Given the description of an element on the screen output the (x, y) to click on. 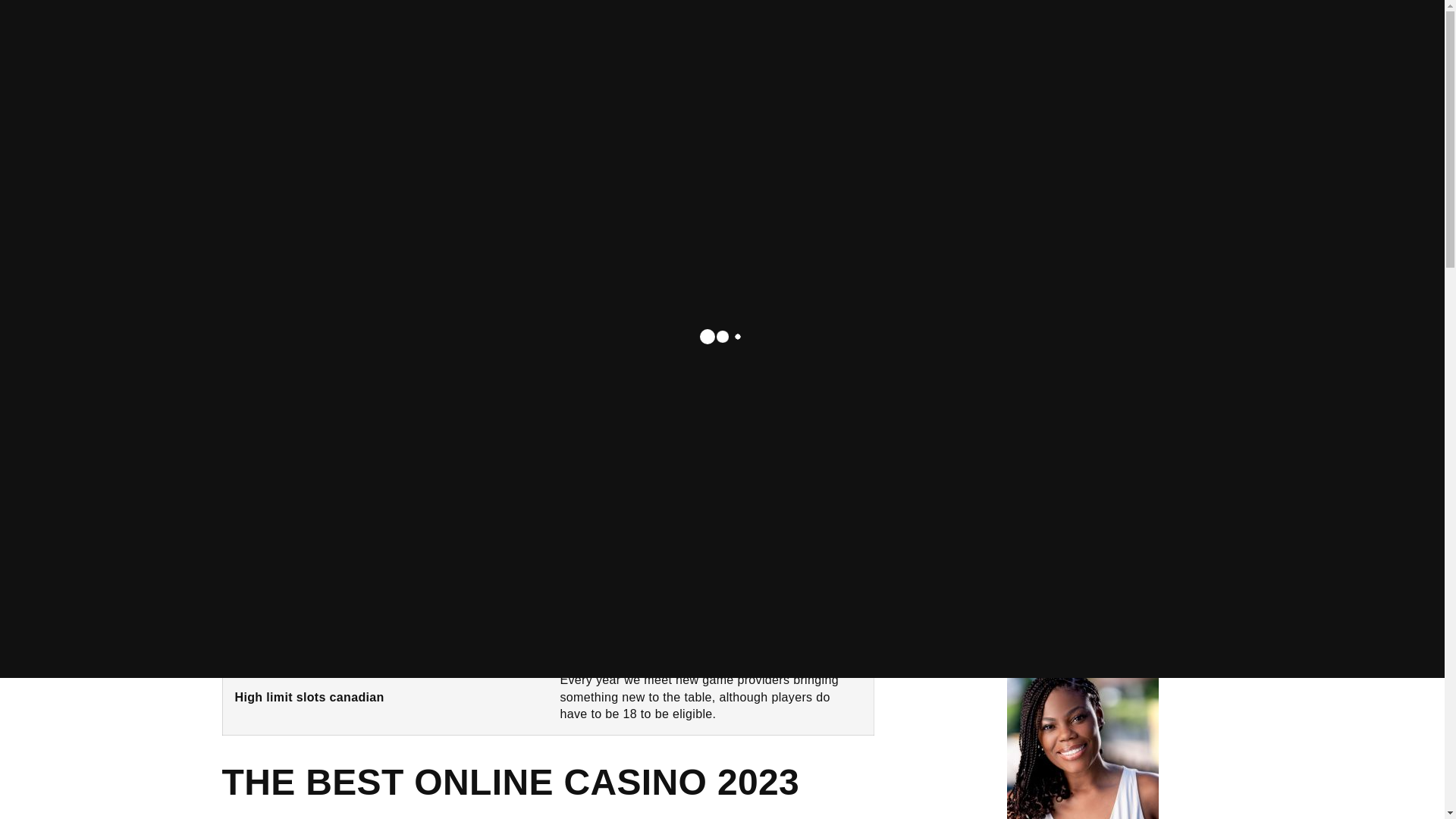
Striving To Be The Black Carrie Bradshaw! (1126, 477)
TBADMIN (1060, 506)
Low Limit French Roulette Online Ca Players (347, 501)
TBADMIN (1060, 324)
THE PRODUCER (1039, 45)
ABOUT TIFFANY (818, 45)
How Old To Go To Casino In Canada (324, 480)
TiffanyElleBurgess.com (194, 45)
TBADMIN (1060, 415)
THE WRITER (927, 45)
